Given the description of an element on the screen output the (x, y) to click on. 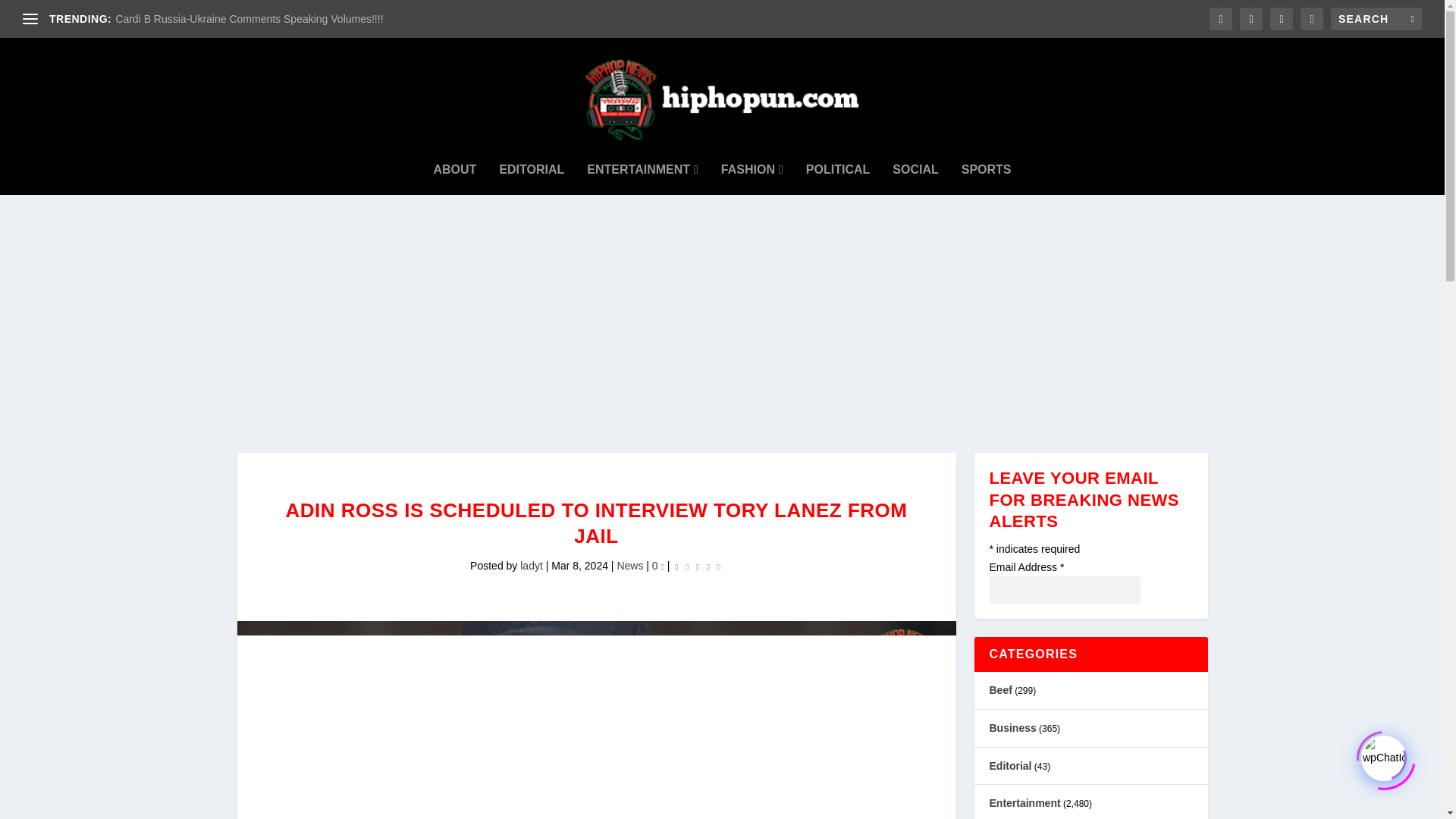
Cardi B Russia-Ukraine Comments Speaking Volumes!!!! (248, 19)
ENTERTAINMENT (642, 169)
FASHION (751, 169)
Search for: (1376, 18)
EDITORIAL (531, 169)
